Given the description of an element on the screen output the (x, y) to click on. 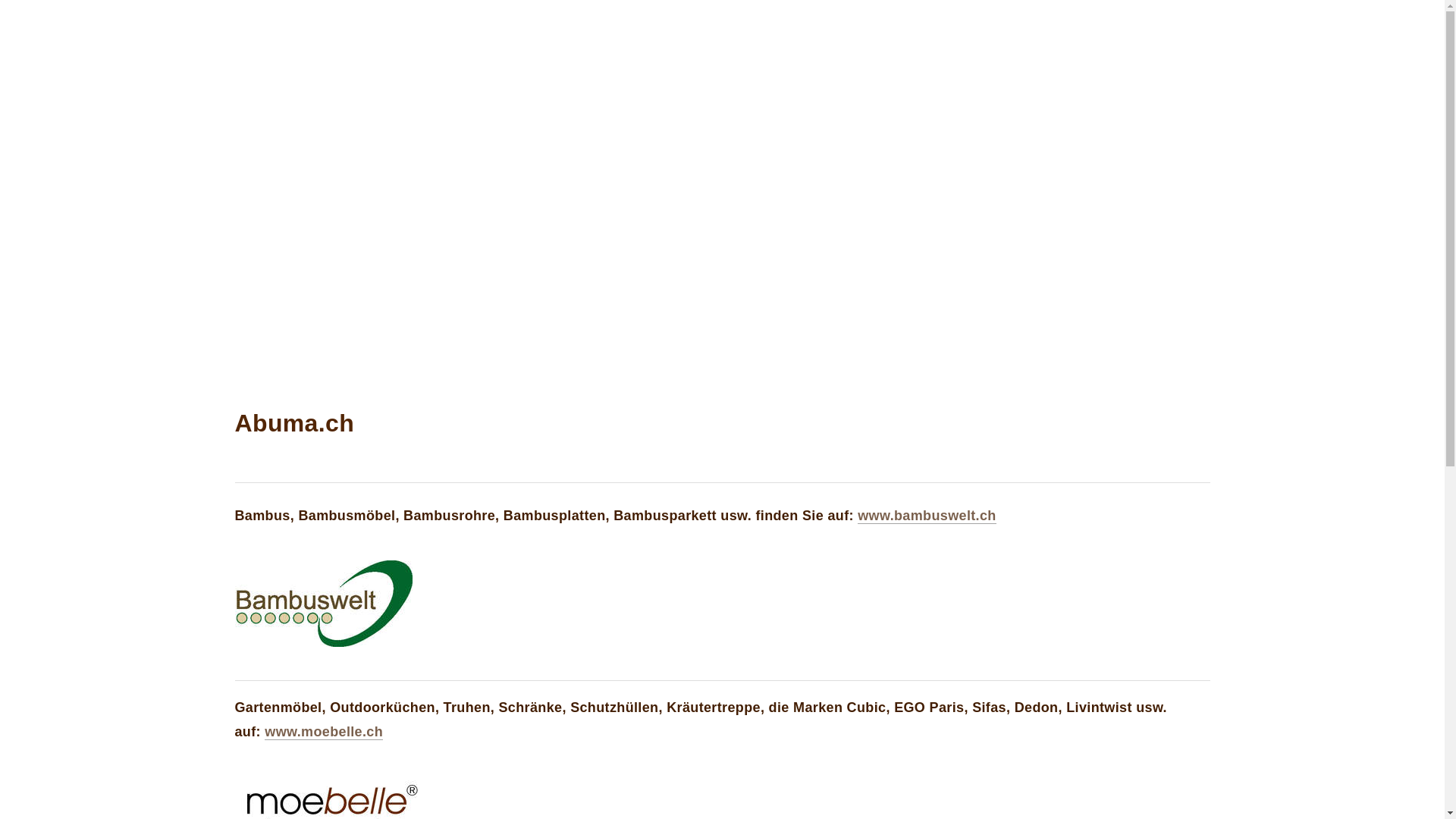
www.bambuswelt.ch Element type: text (926, 516)
www.moebelle.ch Element type: text (323, 731)
